Given the description of an element on the screen output the (x, y) to click on. 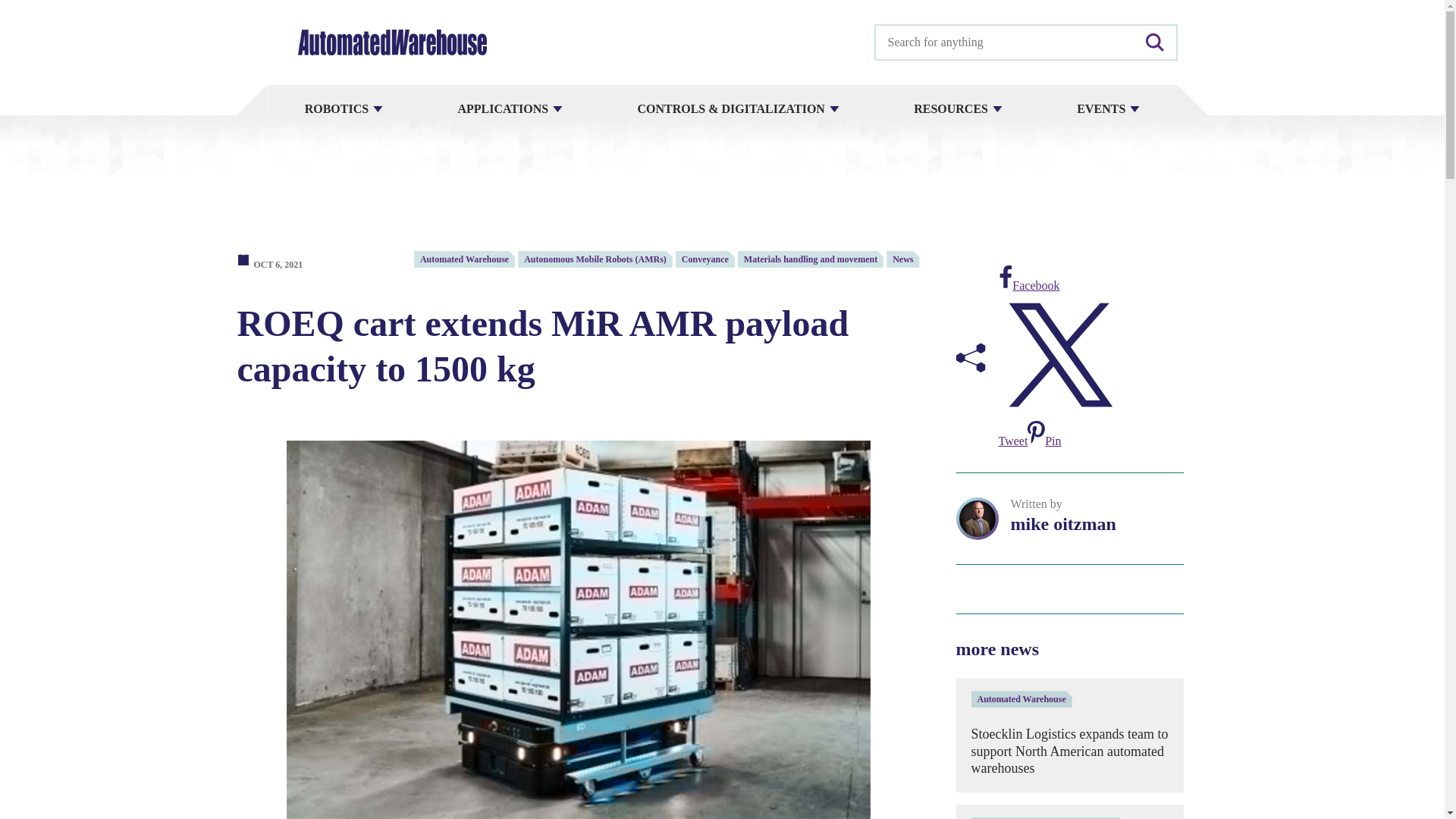
Share on Facebook (1028, 285)
ROBOTICS (343, 109)
Share on Pinterest (1044, 440)
Share on Twitter (1059, 426)
APPLICATIONS (509, 109)
